Given the description of an element on the screen output the (x, y) to click on. 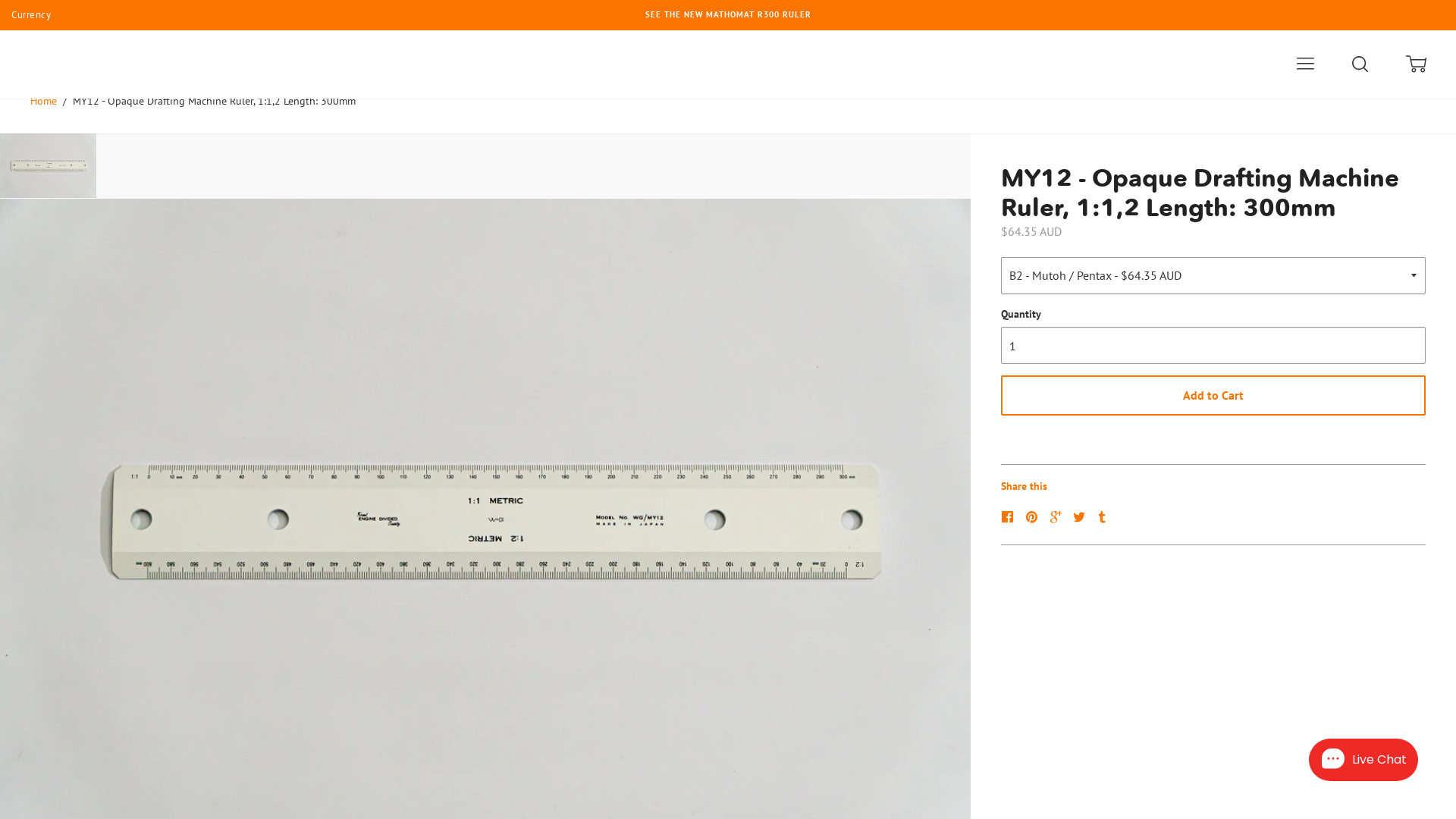
Twitter Element type: text (1082, 515)
Pinterest Element type: text (1035, 515)
Google Element type: text (1057, 517)
Tumblr Element type: text (1103, 515)
Pinterest Element type: text (1033, 517)
Twitter Element type: text (1080, 517)
Facebook Element type: text (1009, 517)
Menu Element type: text (1304, 64)
Search Element type: text (1361, 64)
Home Element type: text (44, 100)
Google Element type: text (1059, 515)
Cart Element type: text (1418, 64)
Facebook Element type: text (1011, 515)
Tumblr Element type: text (1103, 517)
Add to Cart Element type: text (1213, 395)
Share this Element type: text (1024, 485)
